Given the description of an element on the screen output the (x, y) to click on. 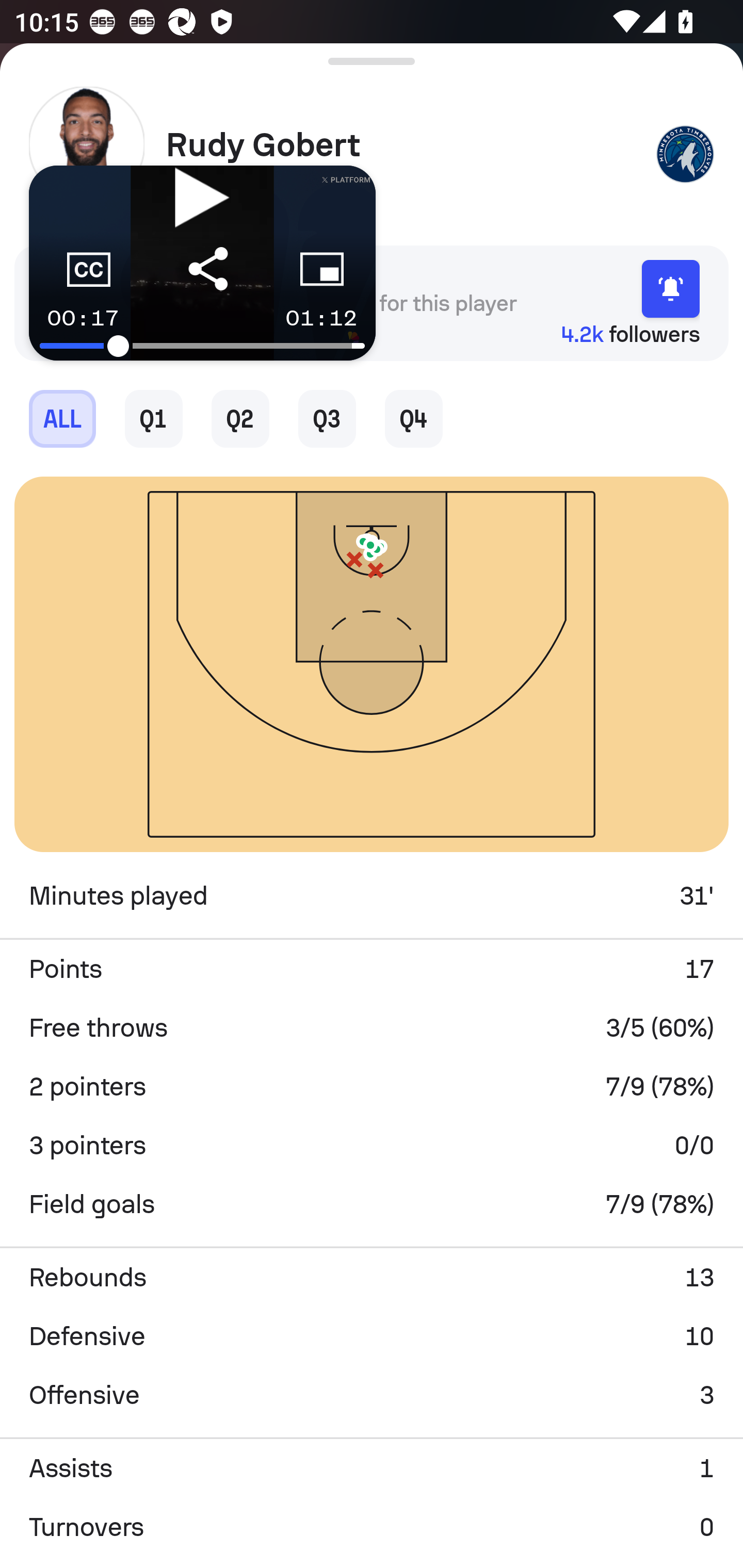
Rudy Gobert (403, 144)
ALL (62, 418)
Q1 (153, 418)
Q2 (239, 418)
Q3 (326, 418)
Q4 (413, 418)
Minutes played 31' (371, 896)
Points 17 (371, 968)
Free throws 3/5 (60%) (371, 1027)
2 pointers 7/9 (78%) (371, 1086)
3 pointers 0/0 (371, 1145)
Field goals 7/9 (78%) (371, 1204)
Rebounds 13 (371, 1277)
Defensive 10 (371, 1336)
Offensive 3 (371, 1395)
Assists 1 (371, 1468)
Turnovers 0 (371, 1527)
